Given the description of an element on the screen output the (x, y) to click on. 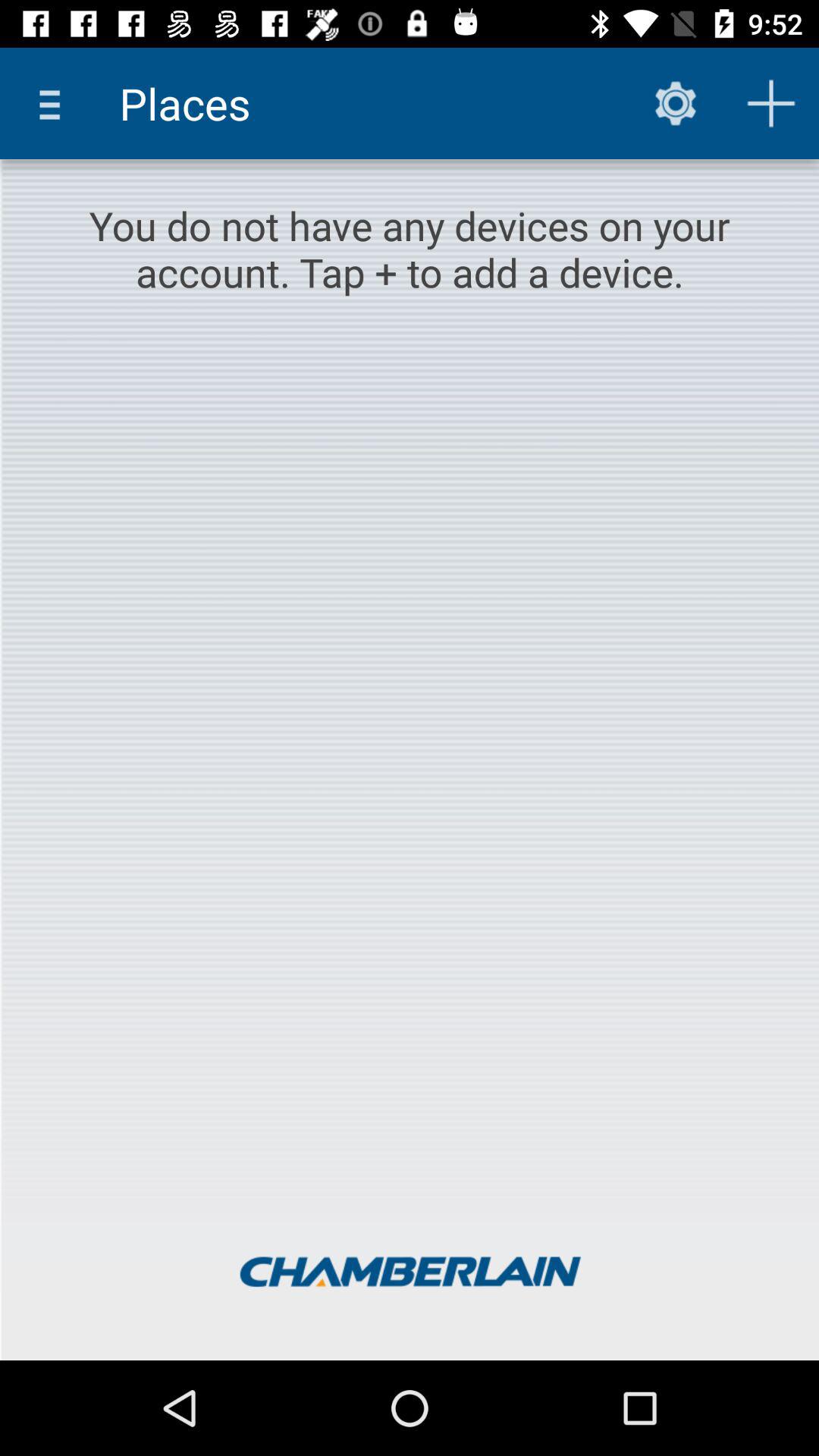
open the item next to the places item (675, 103)
